Given the description of an element on the screen output the (x, y) to click on. 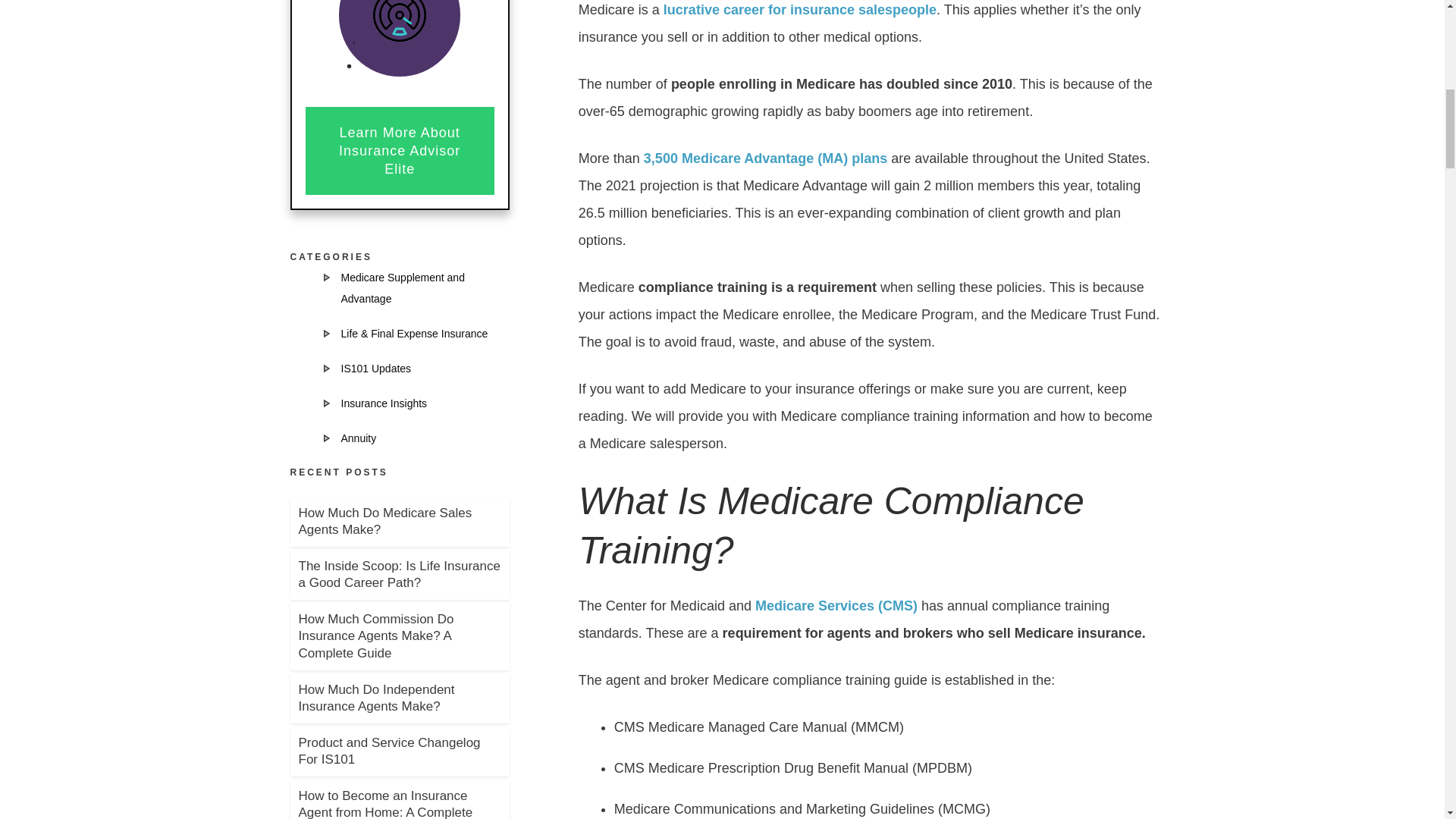
lucrative career for insurance salespeople (799, 9)
lucrative career for insurance salespeople (799, 9)
How Much Do Medicare Sales Agents Make? (384, 521)
Learn More About Insurance Advisor Elite (398, 150)
speedometer - boost in performance (399, 24)
